Given the description of an element on the screen output the (x, y) to click on. 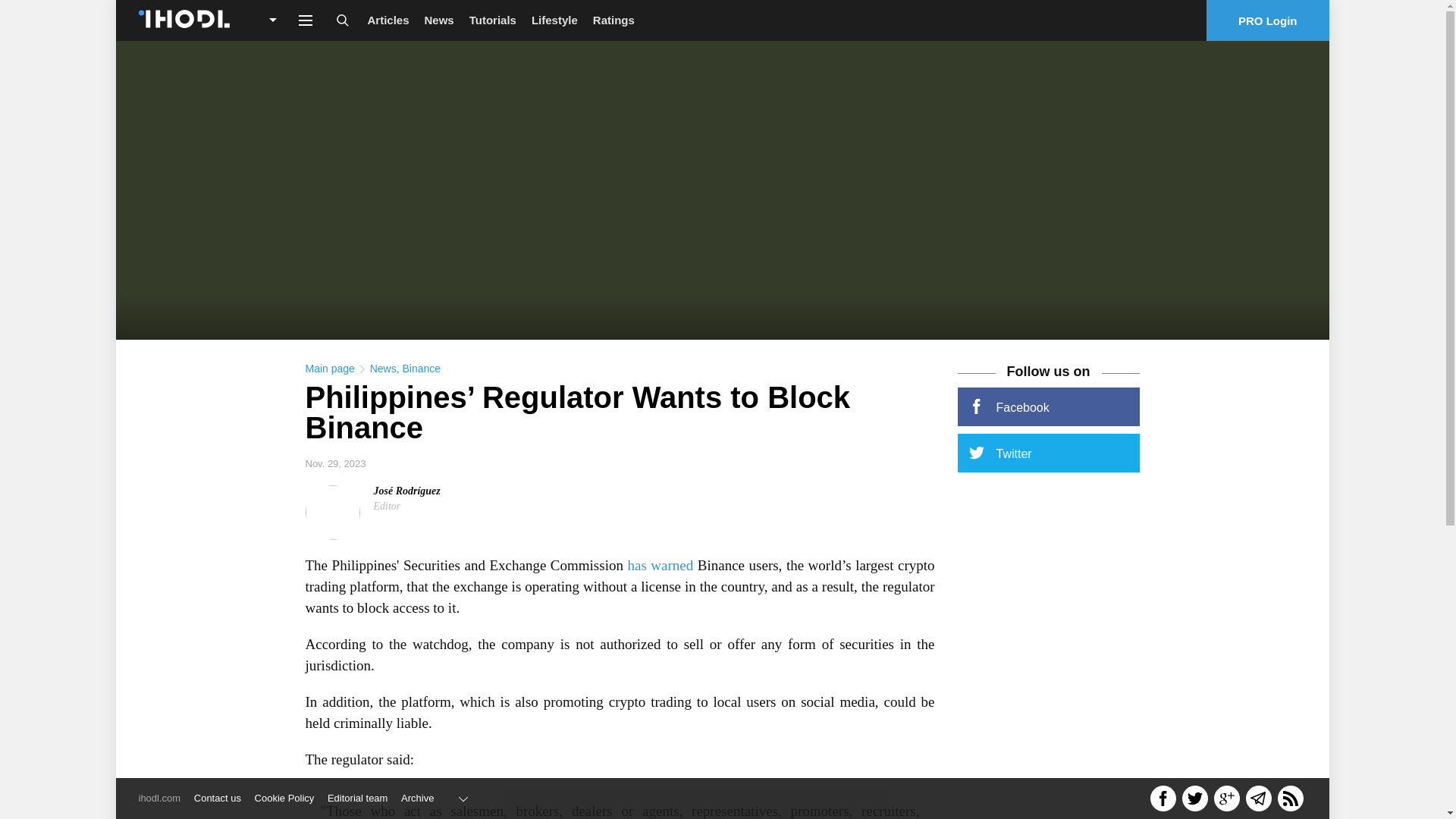
Binance (421, 368)
has warned (660, 565)
Articles (387, 20)
PRO Login (1268, 20)
Main page (328, 368)
Tutorials (492, 20)
Editor (386, 505)
Lifestyle (554, 20)
Ratings (613, 20)
News (382, 368)
